Given the description of an element on the screen output the (x, y) to click on. 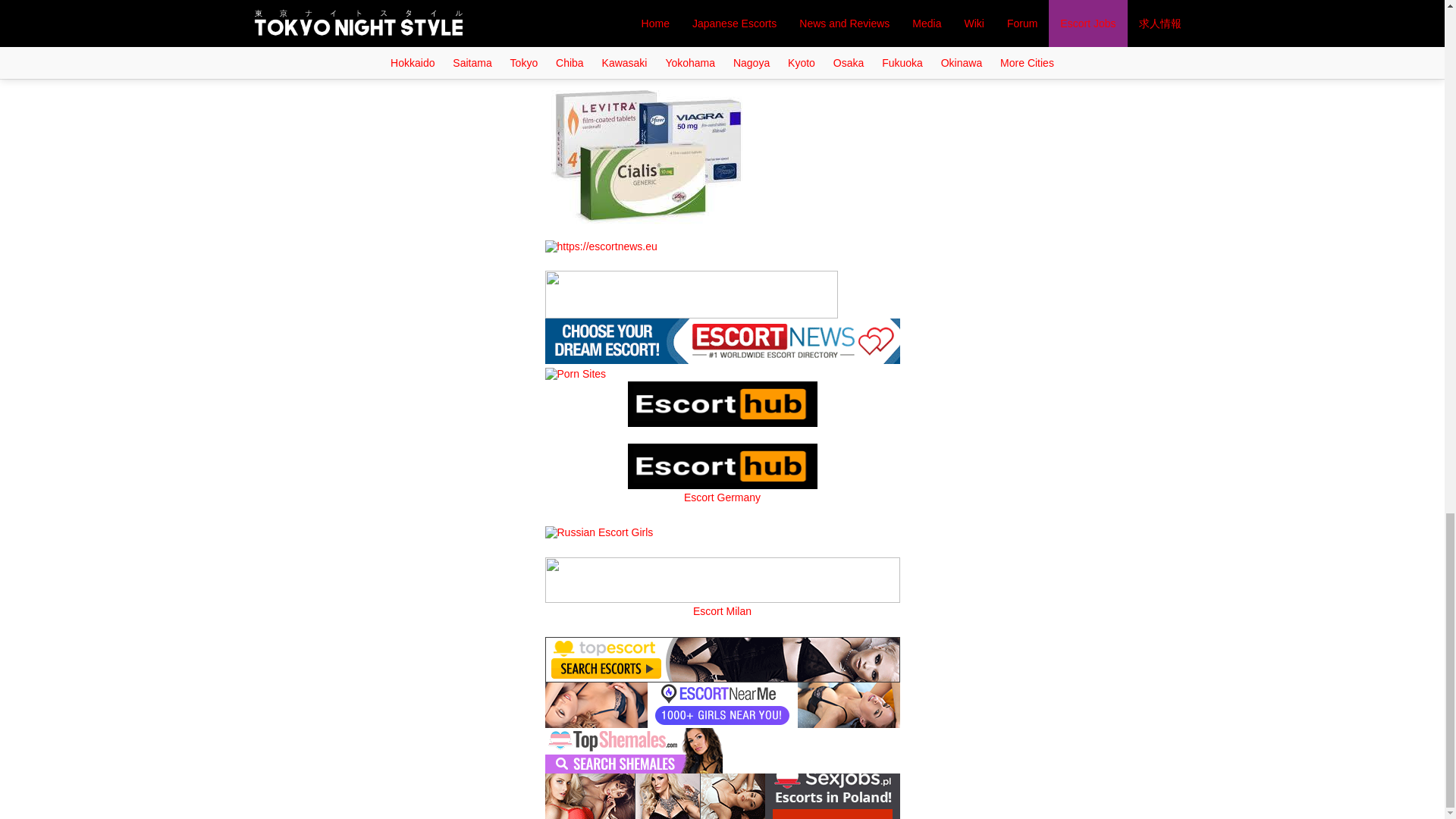
Escort Near Me (721, 703)
Escorts near me (721, 340)
Escort Germany (721, 465)
Top Shemales Escort (633, 748)
Russian escort (598, 531)
Porn Sites List (574, 372)
Escort Milan (721, 578)
Escort Warsaw (721, 794)
Topescort (721, 657)
